Given the description of an element on the screen output the (x, y) to click on. 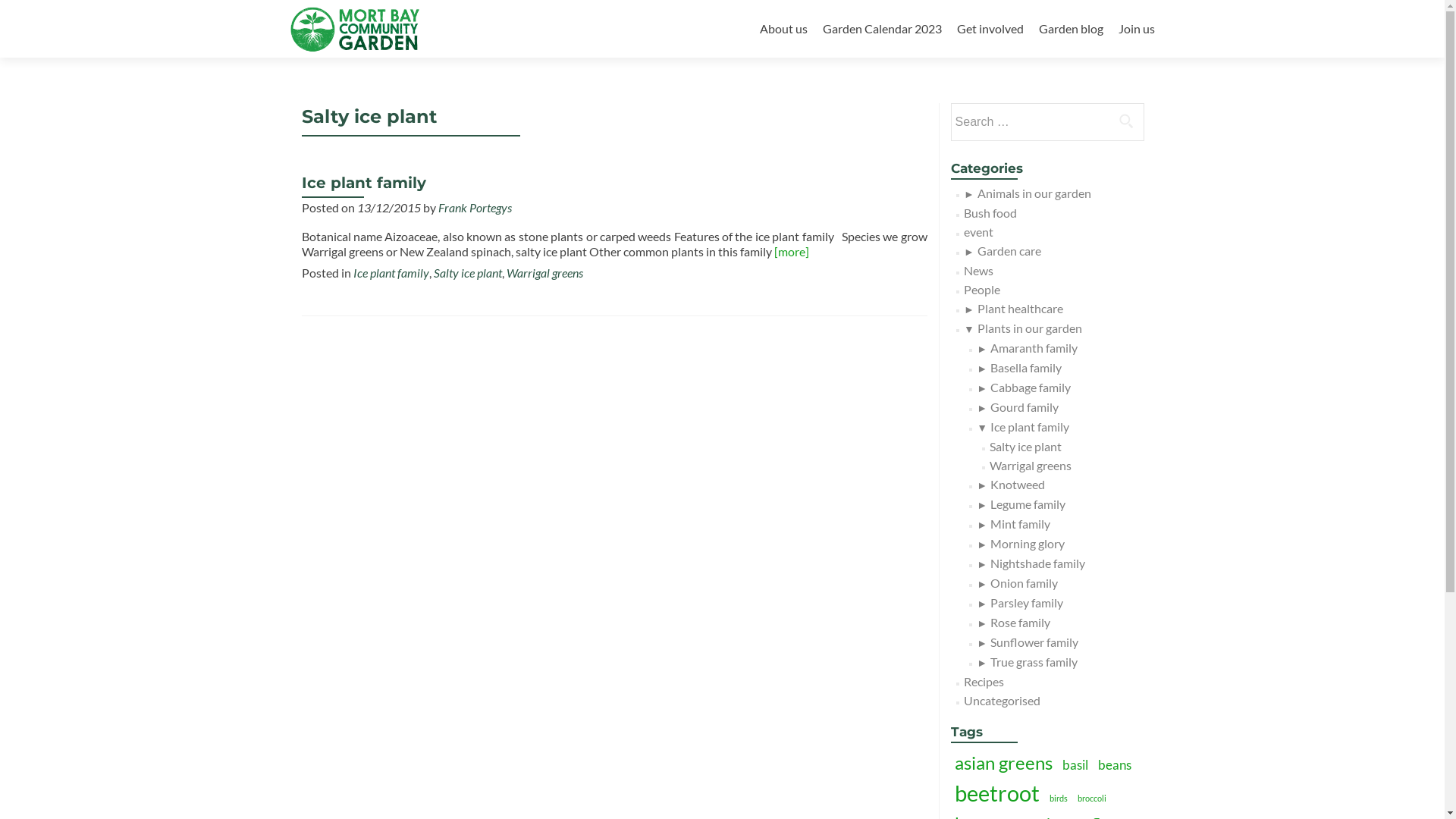
True grass family Element type: text (1033, 661)
Bush food Element type: text (989, 212)
Search Element type: text (1125, 120)
Knotweed Element type: text (1017, 483)
Morning glory Element type: text (1027, 543)
broccoli Element type: text (1091, 797)
Uncategorised Element type: text (1001, 700)
Sunflower family Element type: text (1034, 641)
Warrigal greens Element type: text (1030, 465)
Amaranth family Element type: text (1033, 347)
Garden blog Element type: text (1070, 28)
Legume family Element type: text (1027, 503)
Join us Element type: text (1135, 28)
Plant healthcare Element type: text (1020, 308)
Mint family Element type: text (1020, 523)
News Element type: text (978, 270)
Warrigal greens Element type: text (544, 272)
Rose family Element type: text (1020, 622)
event Element type: text (978, 231)
Animals in our garden Element type: text (1034, 192)
Get involved Element type: text (990, 28)
Ice plant family Element type: text (1029, 426)
Garden Calendar 2023 Element type: text (881, 28)
About us Element type: text (783, 28)
Salty ice plant Element type: text (1025, 446)
Ice plant family Element type: text (363, 182)
Frank Portegys Element type: text (474, 207)
Plants in our garden Element type: text (1029, 327)
Nightshade family Element type: text (1037, 562)
People Element type: text (981, 289)
beans Element type: text (1113, 764)
Recipes Element type: text (983, 681)
beetroot Element type: text (996, 792)
Ice plant family Element type: text (391, 272)
Basella family Element type: text (1025, 367)
Salty ice plant Element type: text (467, 272)
Onion family Element type: text (1023, 582)
birds Element type: text (1057, 797)
Gourd family Element type: text (1024, 406)
Garden care Element type: text (1009, 250)
basil Element type: text (1075, 764)
Cabbage family Element type: text (1030, 386)
[more] Element type: text (790, 251)
asian greens Element type: text (1003, 762)
Parsley family Element type: text (1026, 602)
